Given the description of an element on the screen output the (x, y) to click on. 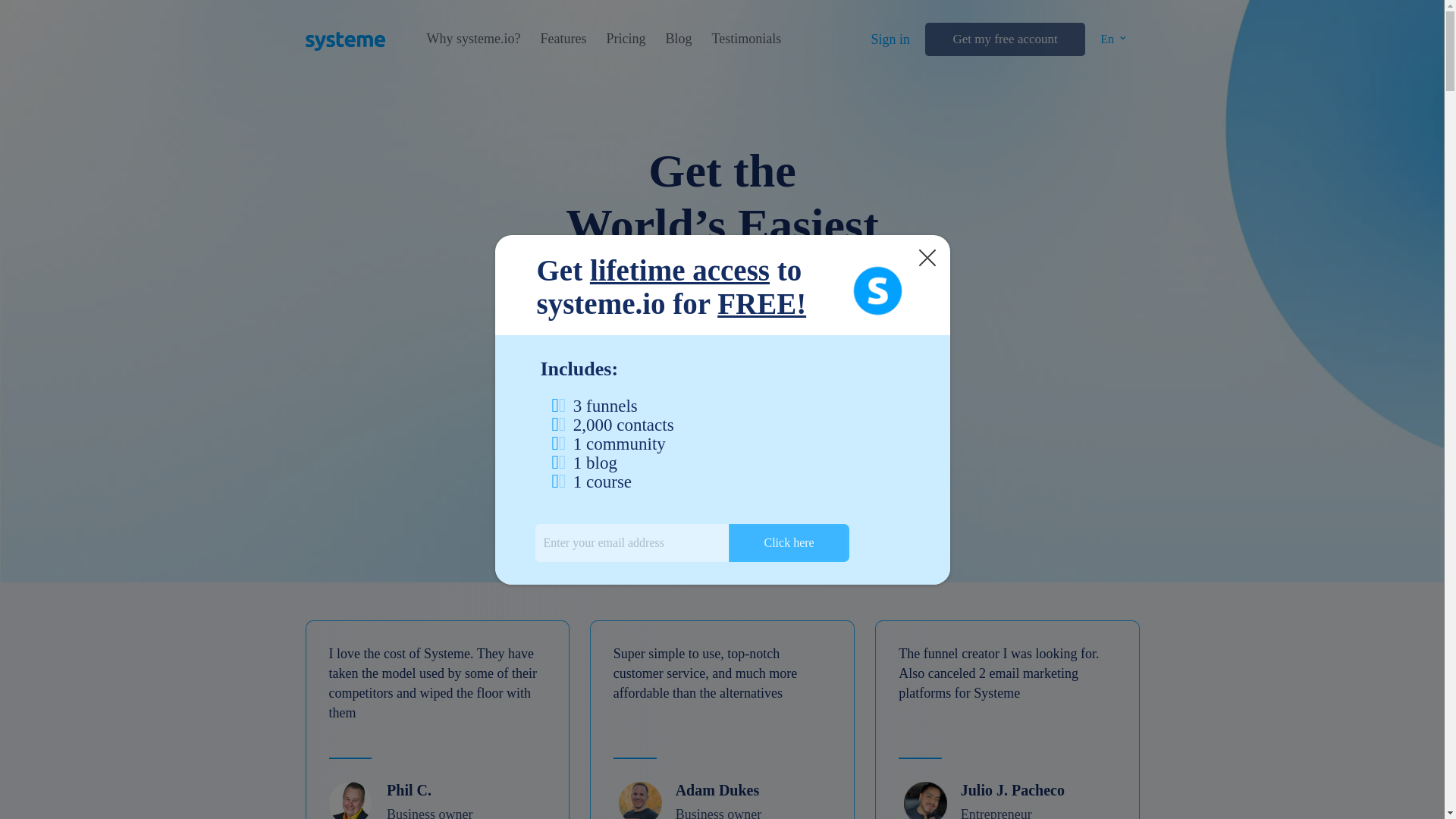
Pricing (625, 38)
Get my free account (1004, 39)
Sign in (890, 39)
Features (563, 38)
Testimonials (745, 38)
Blog (678, 38)
Why systeme.io? (472, 38)
